Given the description of an element on the screen output the (x, y) to click on. 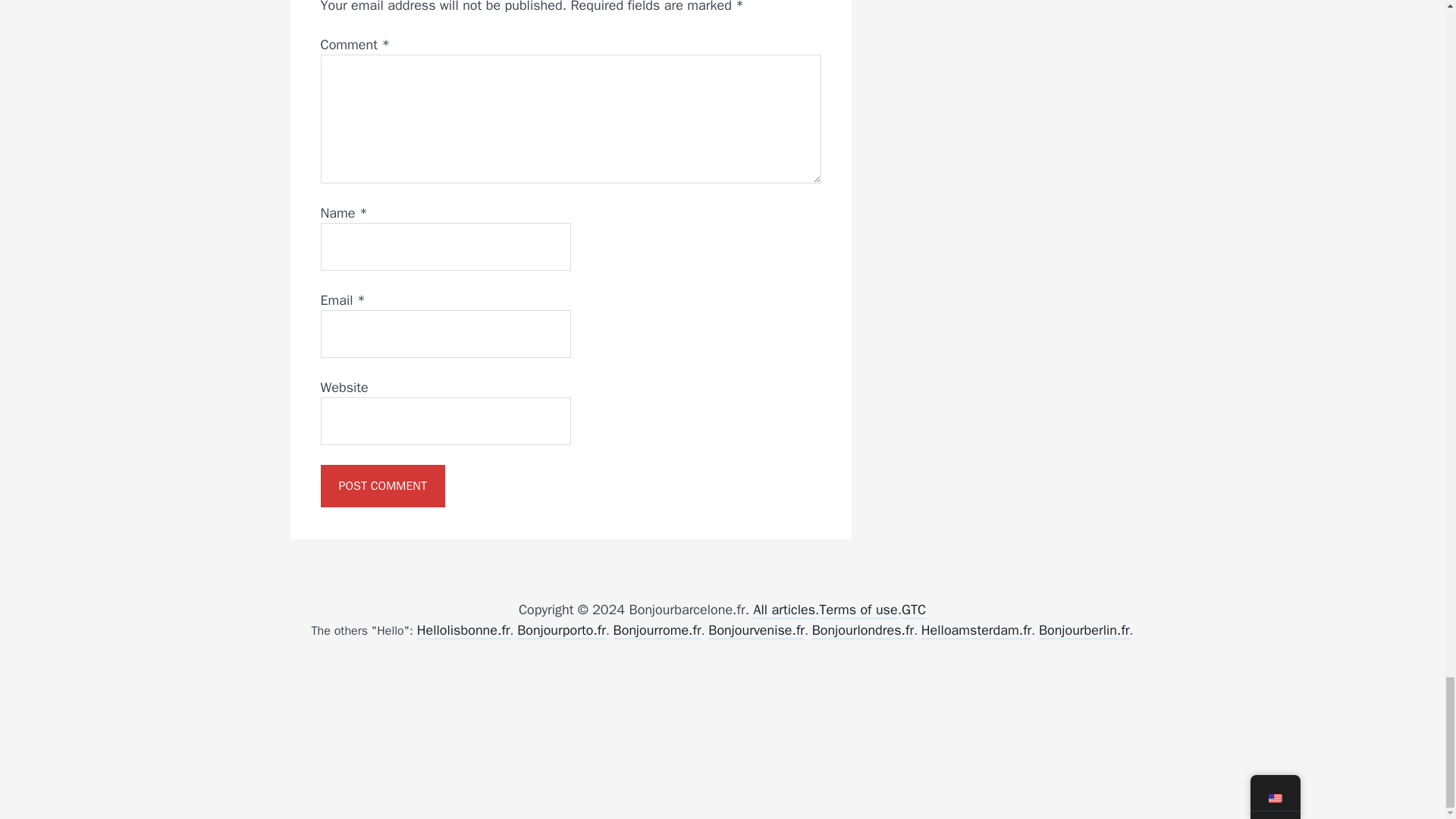
Hellolisbonne.fr (463, 630)
Helloamsterdam.fr (976, 630)
Bonjourrome.fr (656, 630)
Bonjourberlin.fr (1084, 630)
cgv (913, 610)
Post Comment (382, 485)
Bonjourlondres.fr (863, 630)
Terms of use (857, 610)
all articles (783, 610)
Bonjourporto.fr (560, 630)
Bonjourvenise.fr (756, 630)
legal information (857, 610)
All articles (783, 610)
GTC (913, 610)
Post Comment (382, 485)
